Given the description of an element on the screen output the (x, y) to click on. 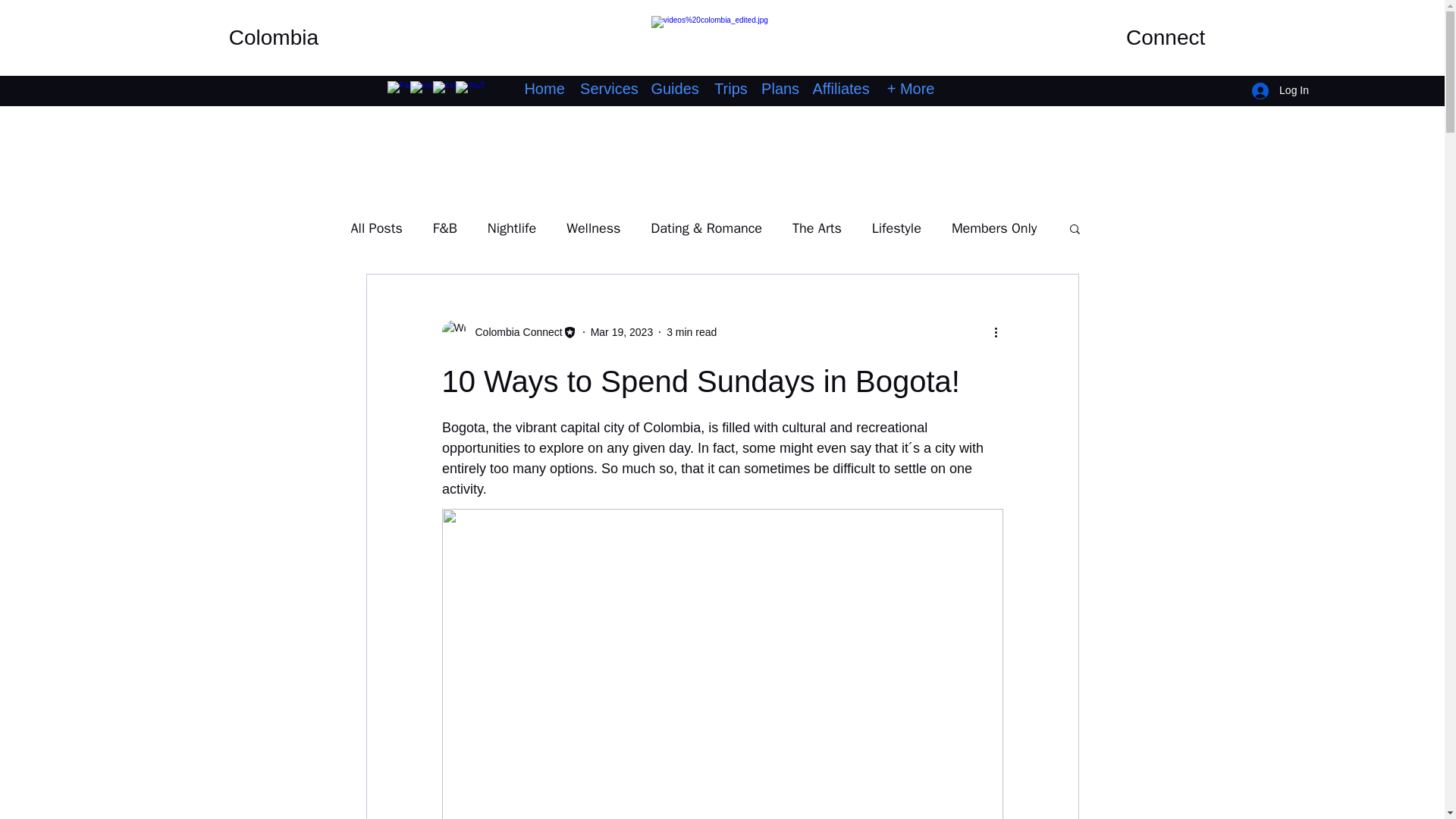
Home (544, 89)
Affiliates (840, 89)
Lifestyle (896, 228)
Services (607, 89)
Colombia Connect (513, 332)
Members Only (994, 228)
Log In (1280, 90)
Plans (778, 89)
Guides (674, 89)
Colombia (273, 37)
